Given the description of an element on the screen output the (x, y) to click on. 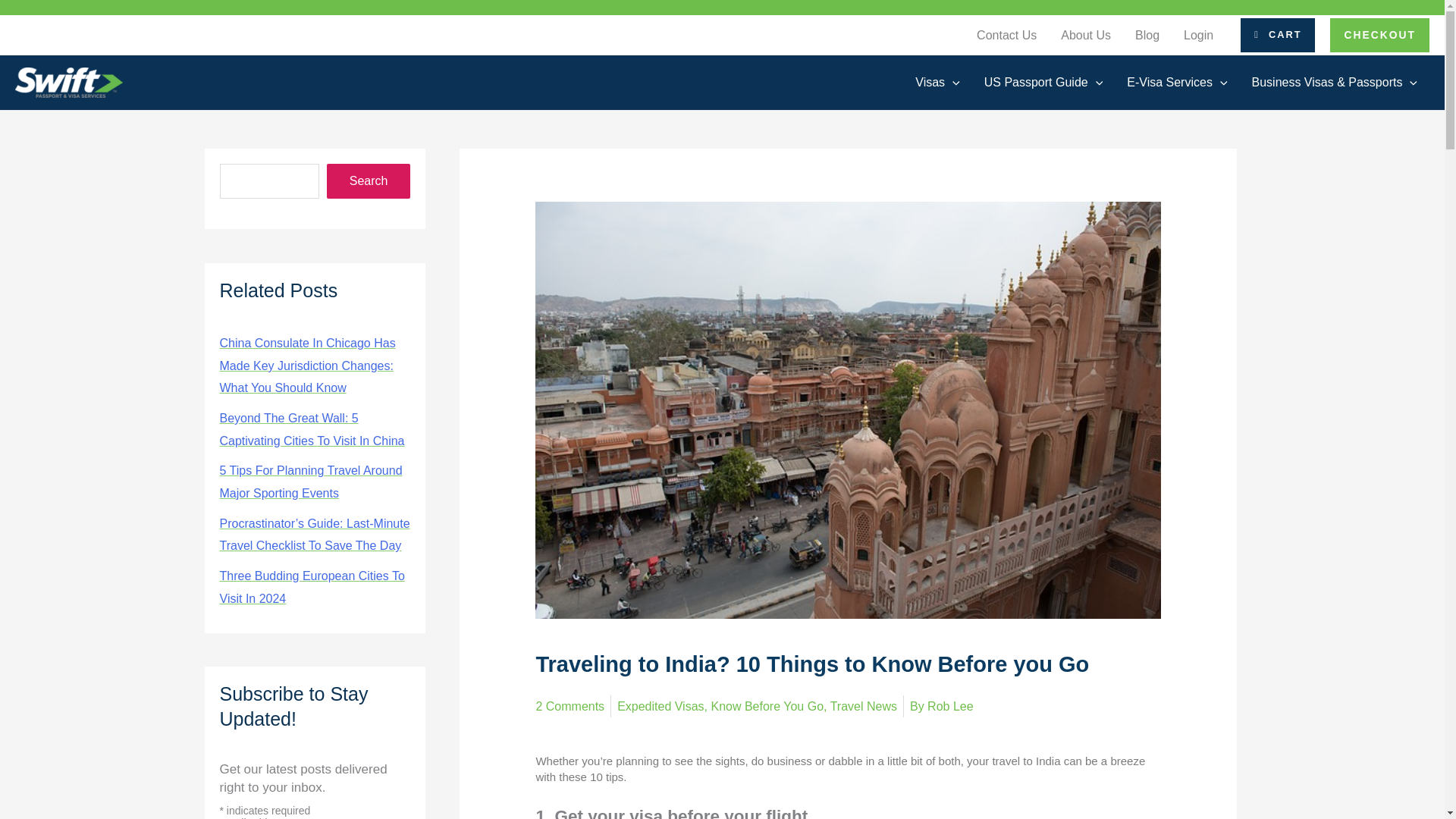
Contact Us (1005, 35)
About Us (1085, 35)
CART (1277, 35)
E-Visa Services (1177, 82)
Login (1198, 35)
CHECKOUT (1379, 35)
Visas (936, 82)
Blog (1147, 35)
US Passport Guide (1043, 82)
